Given the description of an element on the screen output the (x, y) to click on. 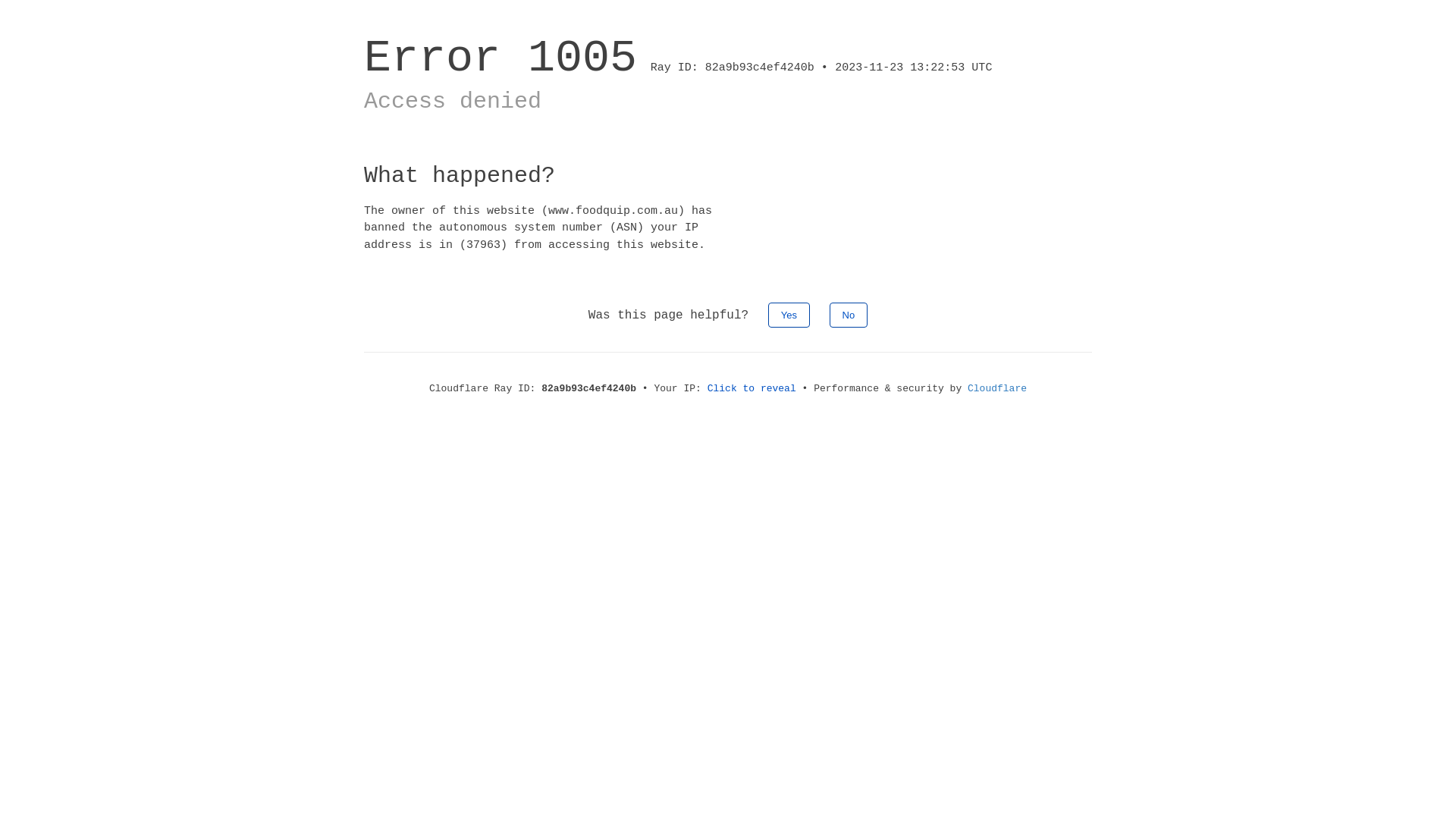
Click to reveal Element type: text (751, 388)
No Element type: text (848, 314)
Yes Element type: text (788, 314)
Cloudflare Element type: text (996, 388)
